Given the description of an element on the screen output the (x, y) to click on. 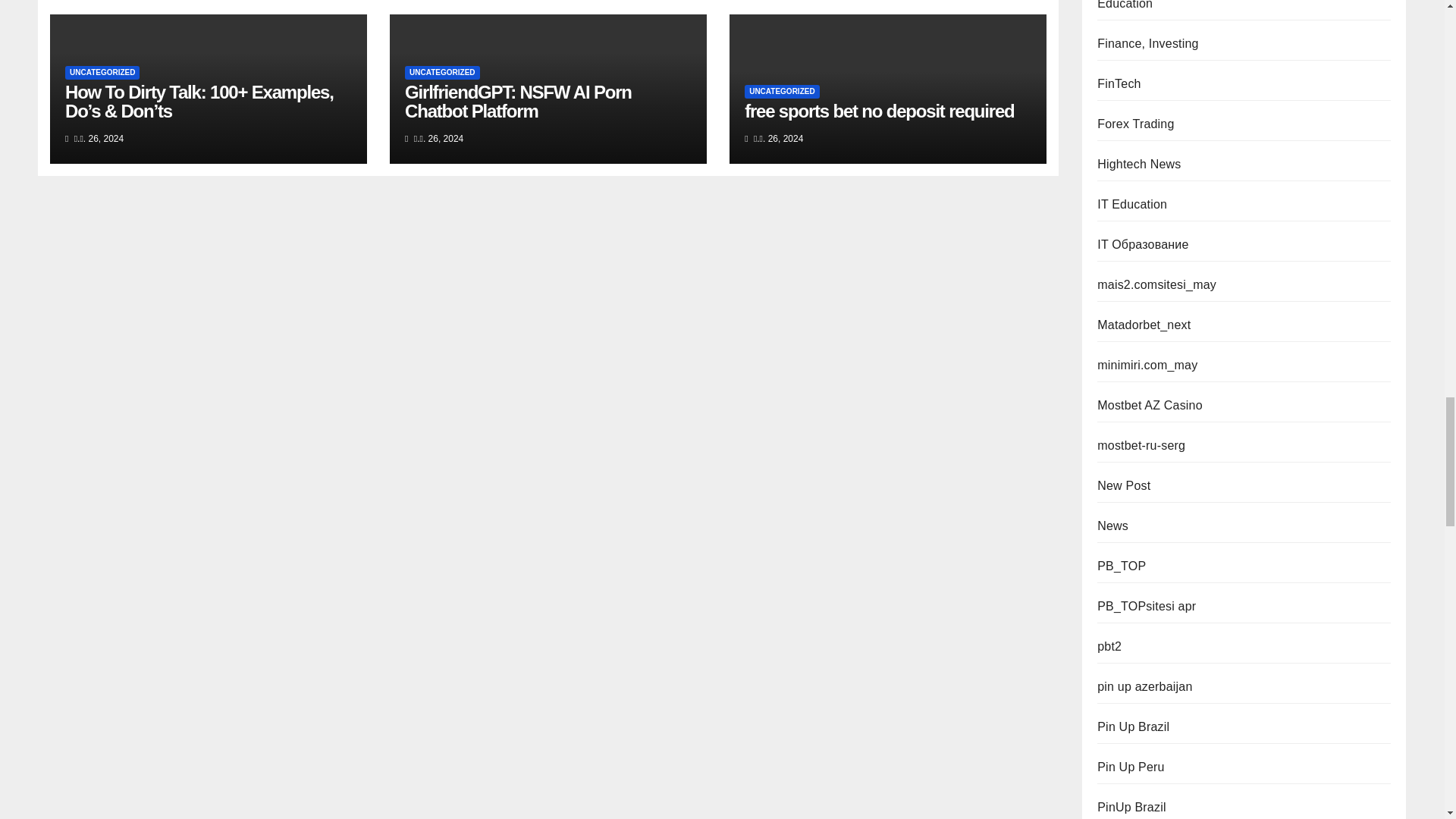
UNCATEGORIZED (781, 91)
UNCATEGORIZED (102, 72)
UNCATEGORIZED (441, 72)
GirlfriendGPT: NSFW AI Porn Chatbot Platform (517, 101)
Permalink to: free sports bet no deposit required (878, 110)
Permalink to: GirlfriendGPT: NSFW AI Porn Chatbot Platform (517, 101)
free sports bet no deposit required (878, 110)
